Given the description of an element on the screen output the (x, y) to click on. 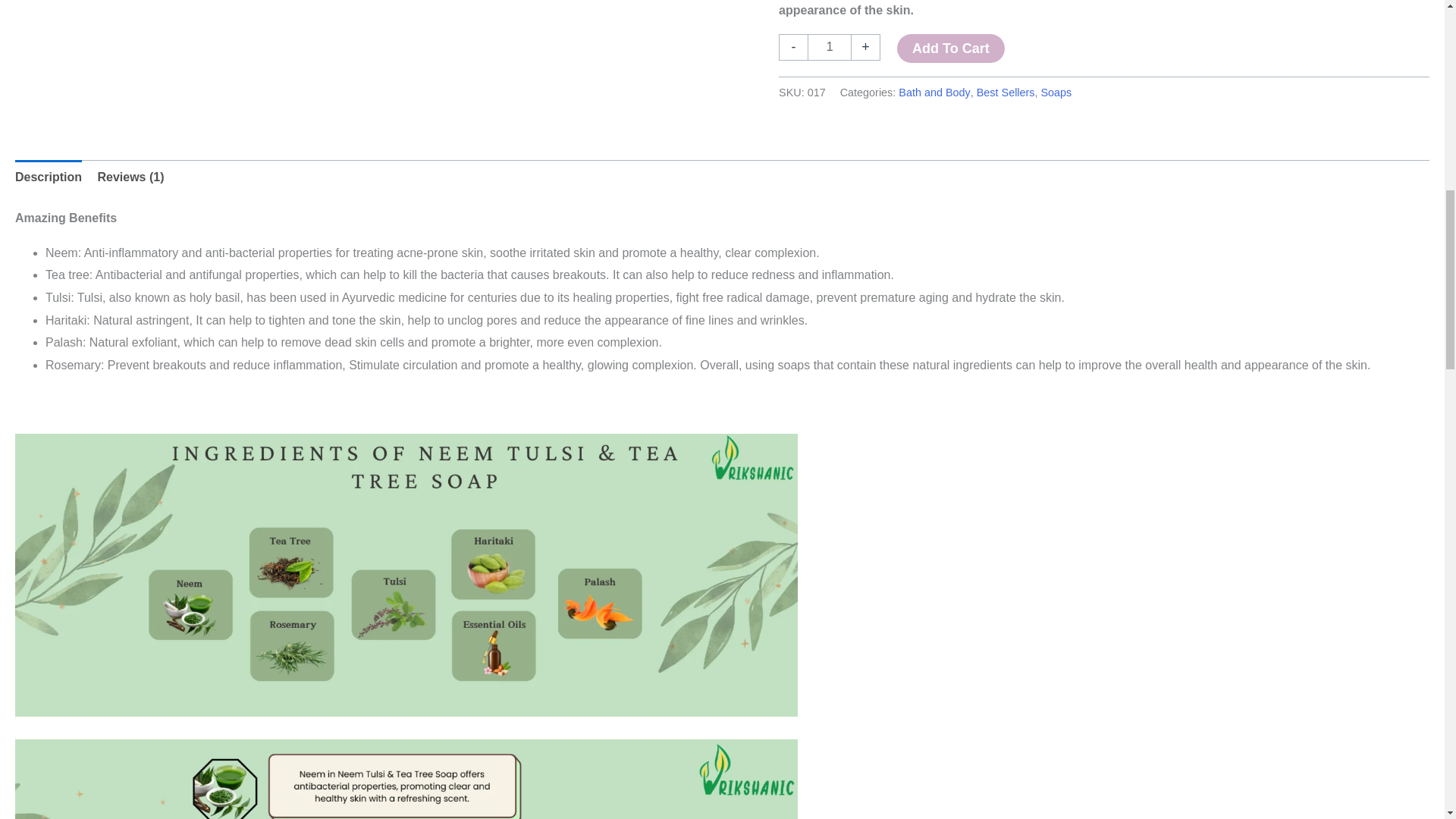
1 (829, 47)
